Given the description of an element on the screen output the (x, y) to click on. 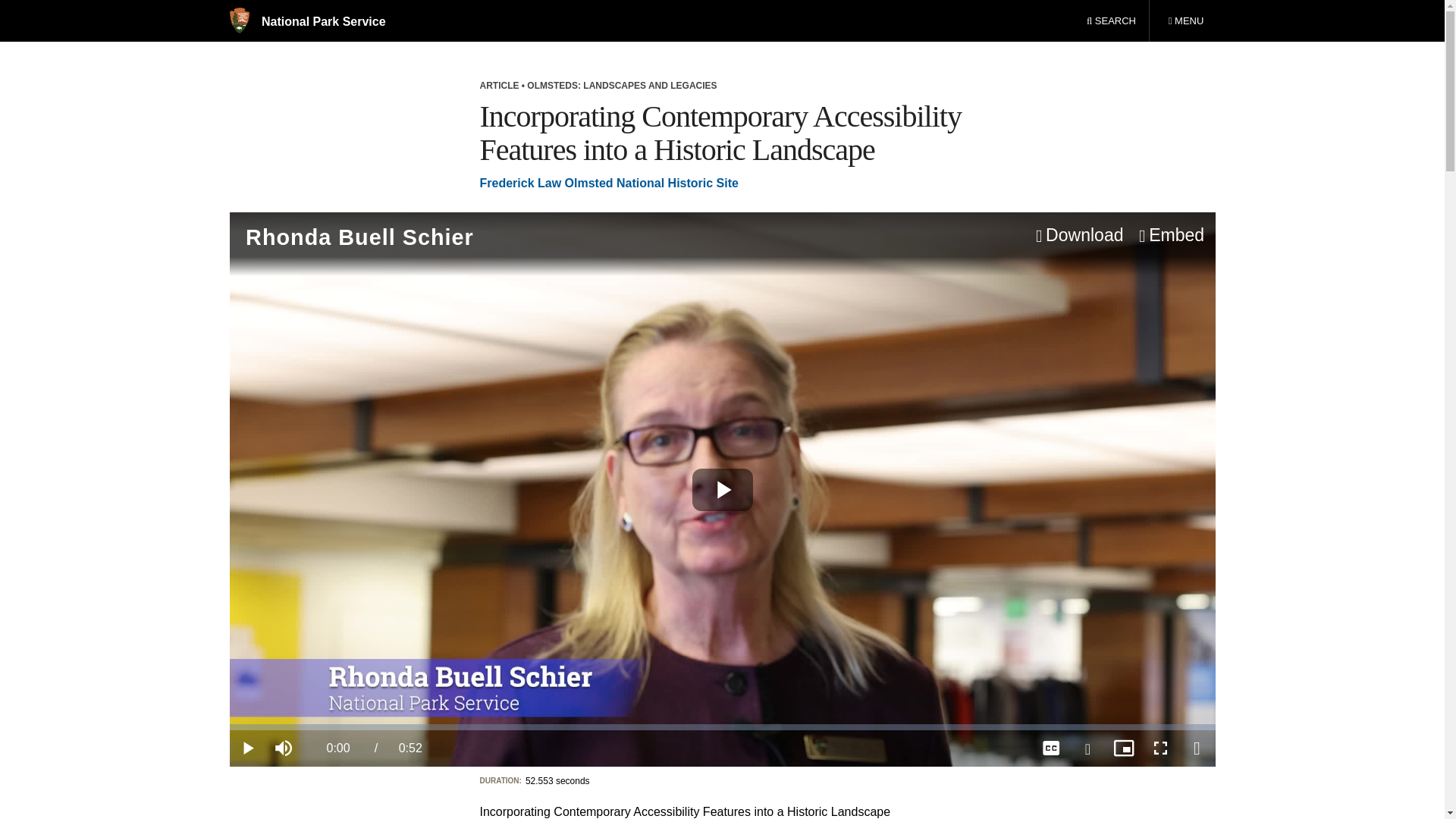
Download (1077, 235)
Picture-in-Picture (1123, 748)
Embed Video (1170, 235)
Play Video (721, 489)
Play (246, 748)
National Park Service (307, 20)
Video File Info (1195, 748)
Fullscreen (1159, 748)
Rhonda Buell Schier (533, 236)
Play Video (721, 489)
Captions (1050, 748)
Embed (1185, 20)
Mute (1170, 235)
SEARCH (282, 748)
